Given the description of an element on the screen output the (x, y) to click on. 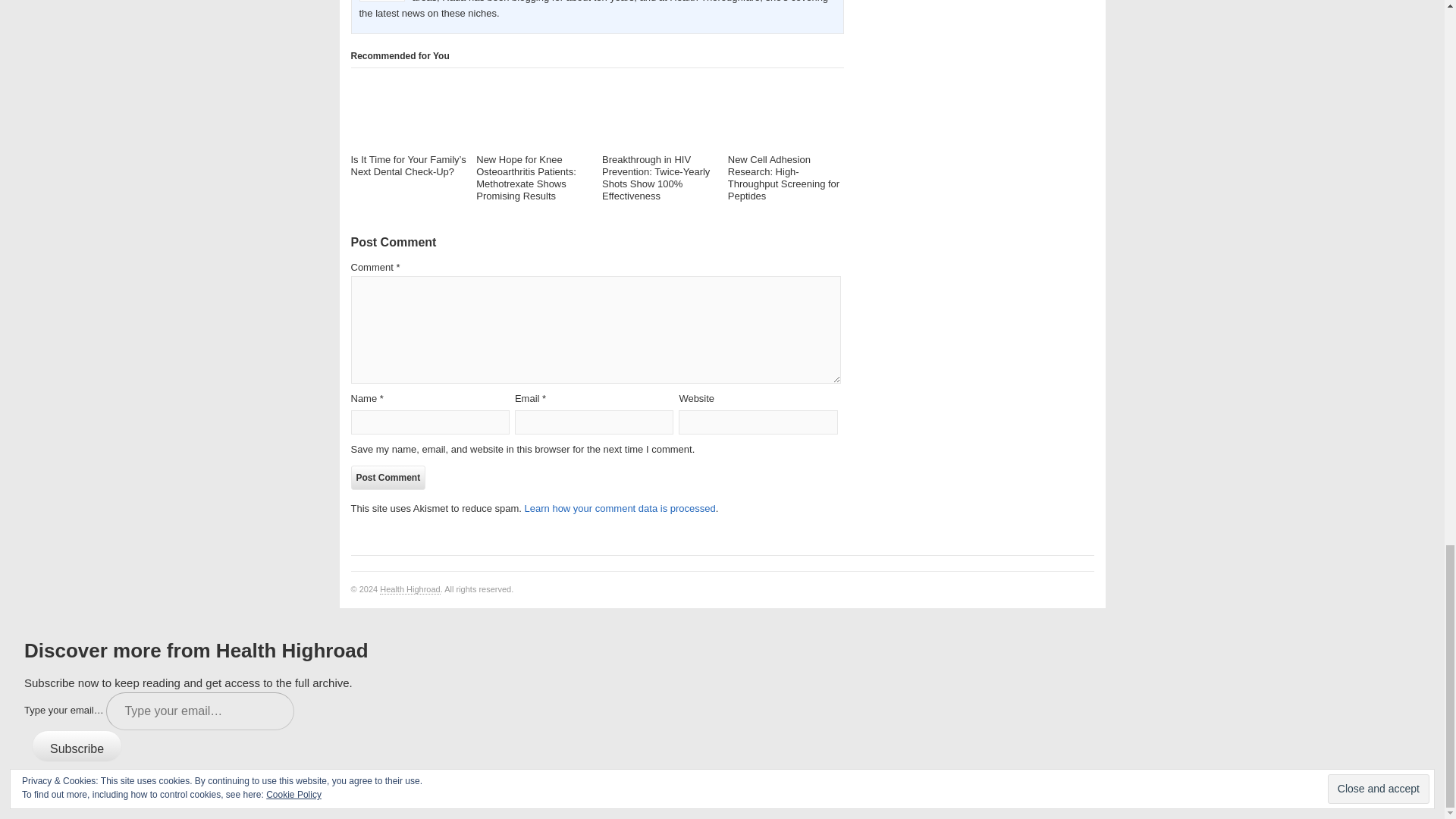
Please fill in this field. (200, 711)
Post Comment (387, 477)
Your Highroad to Health (410, 589)
